Given the description of an element on the screen output the (x, y) to click on. 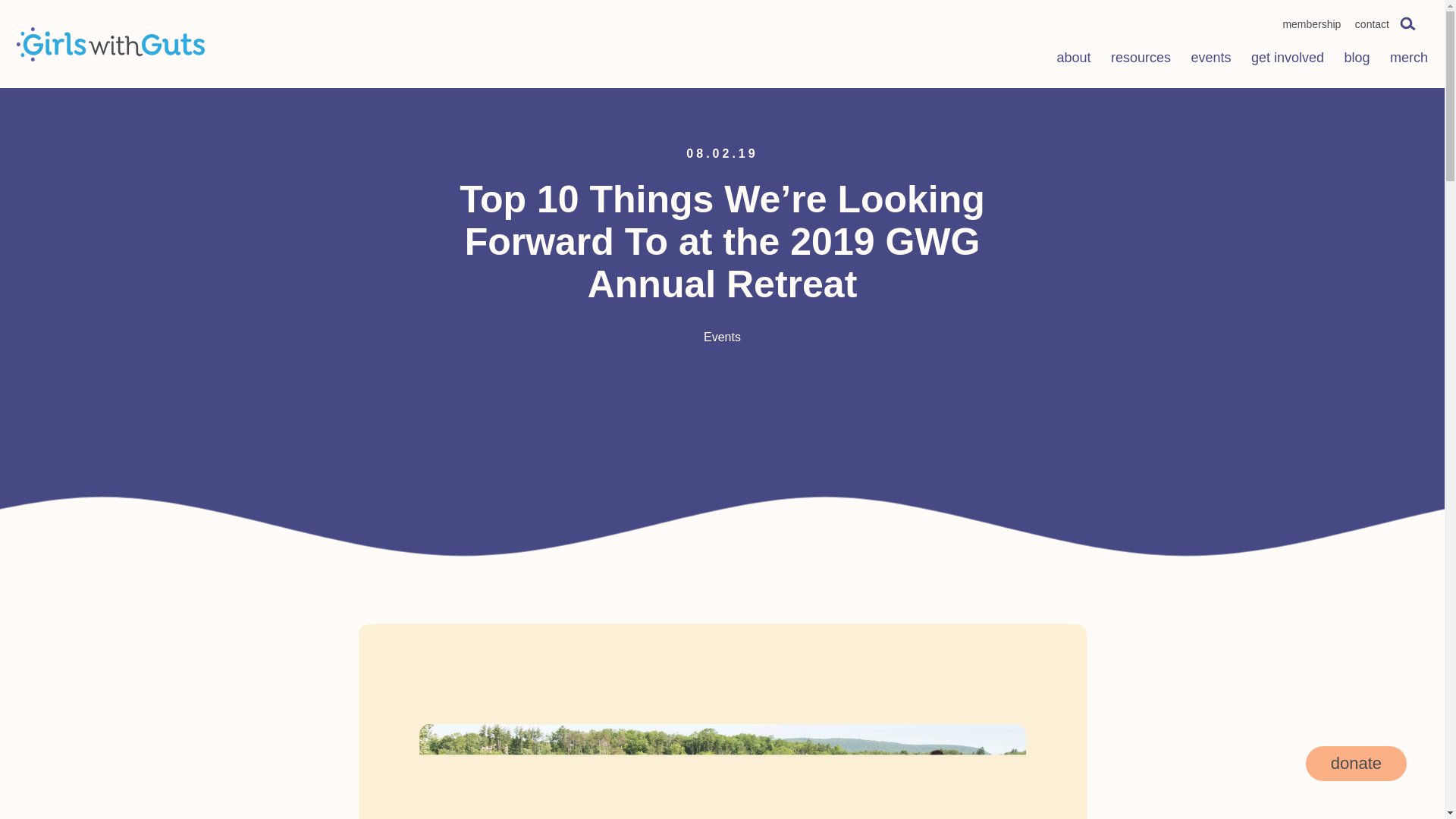
contact (1372, 24)
membership (1311, 24)
about (1073, 60)
resources (1140, 60)
